Given the description of an element on the screen output the (x, y) to click on. 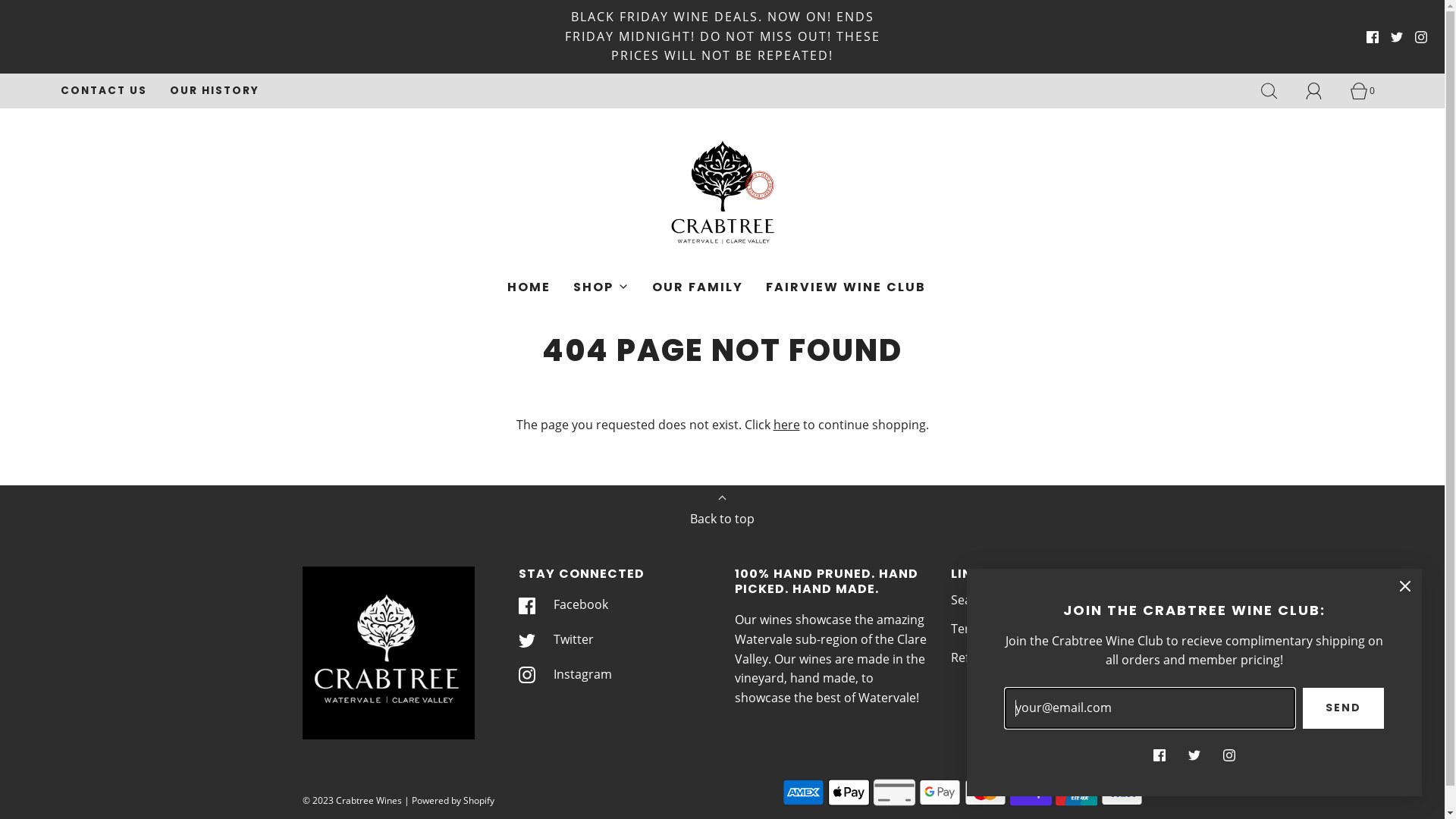
Instagram icon Element type: text (1229, 755)
OUR FAMILY Element type: text (697, 287)
HOME Element type: text (528, 287)
here Element type: text (786, 424)
Instagram icon Instagram Element type: text (564, 673)
SHOP Element type: text (601, 287)
OUR HISTORY Element type: text (214, 90)
Facebook icon Facebook Element type: text (563, 604)
Powered by Shopify Element type: text (452, 799)
FAIRVIEW WINE CLUB Element type: text (845, 287)
CONTACT US Element type: text (103, 90)
0 Element type: text (1366, 90)
Refund policy Element type: text (989, 657)
TWITTER ICON Element type: text (1396, 37)
Search Element type: hover (1277, 90)
Back to top Element type: text (721, 514)
Log in Element type: hover (1322, 90)
Twitter icon Element type: text (1194, 755)
Terms of Service Element type: text (997, 629)
SEND Element type: text (1342, 707)
FACEBOOK ICON Element type: text (1372, 37)
Search Element type: text (970, 600)
Facebook icon Element type: text (1159, 755)
INSTAGRAM ICON Element type: text (1421, 37)
Twitter icon Twitter Element type: text (555, 639)
